Given the description of an element on the screen output the (x, y) to click on. 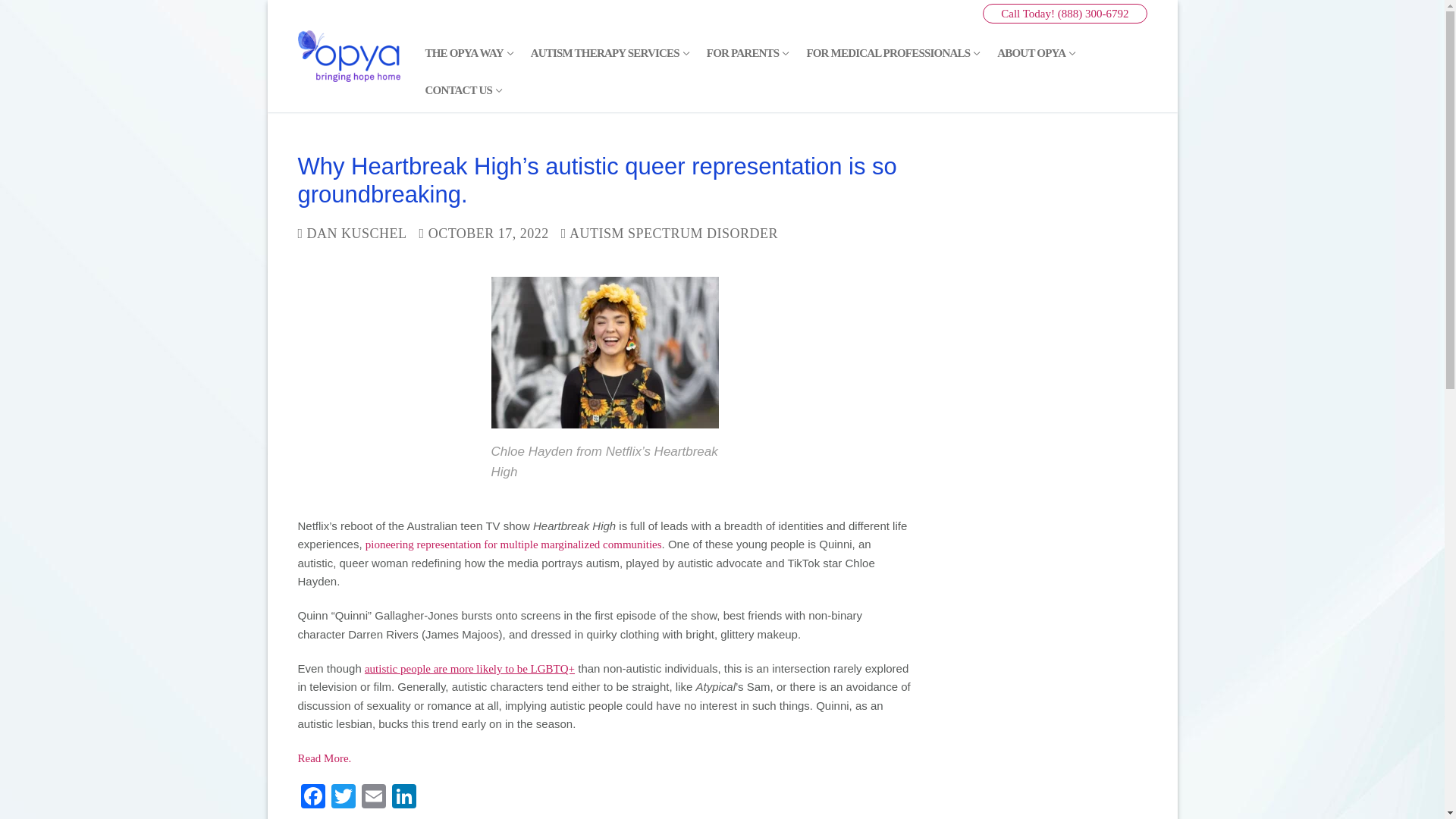
LinkedIn (403, 797)
Read More. (323, 758)
AUTISM SPECTRUM DISORDER (668, 233)
Facebook (312, 797)
Email (609, 52)
Twitter (373, 797)
Twitter (342, 797)
